Given the description of an element on the screen output the (x, y) to click on. 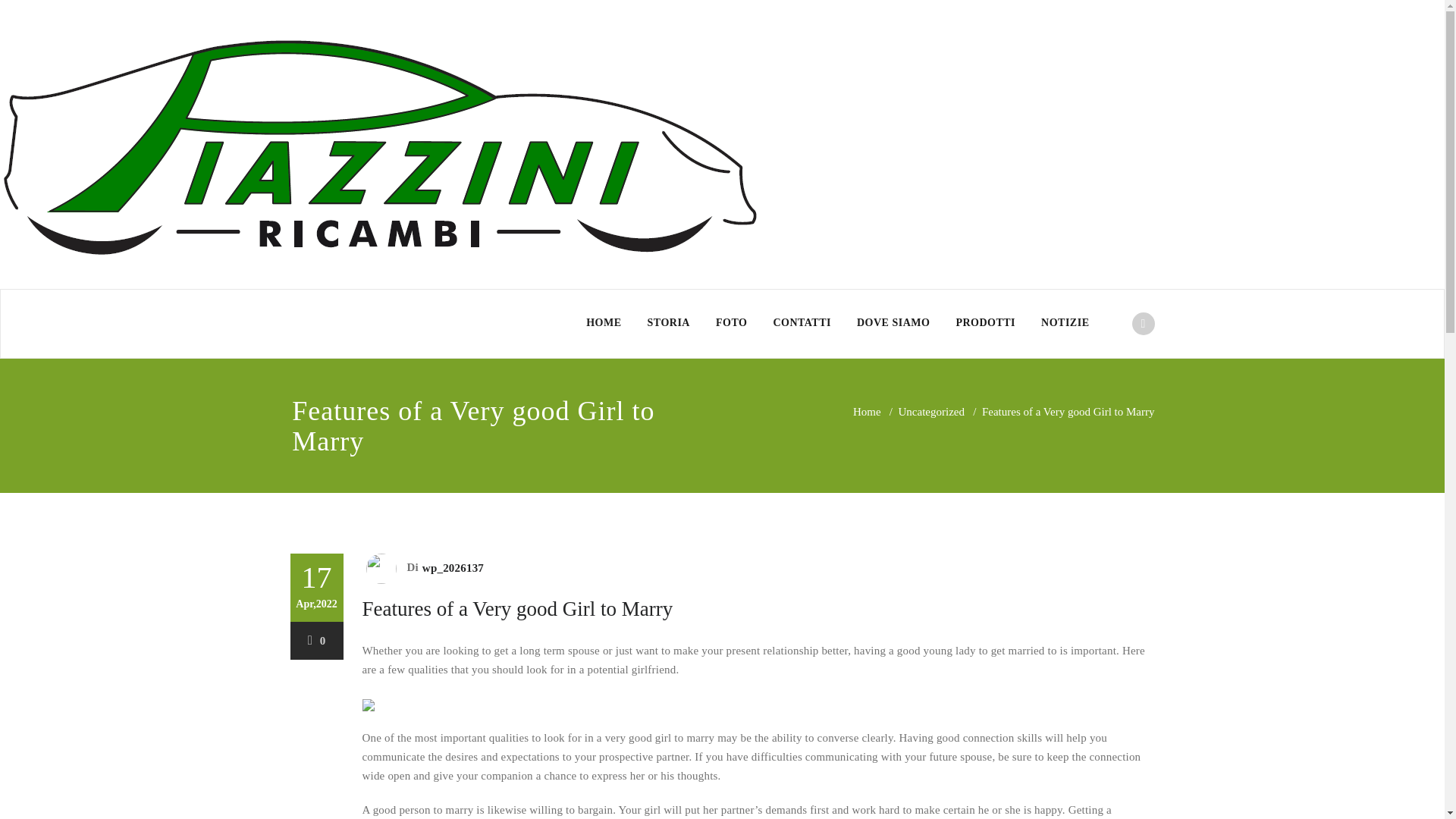
PRODOTTI (984, 322)
HOME (603, 322)
STORIA (668, 322)
DOVE SIAMO (893, 322)
Uncategorized (930, 411)
CONTATTI (802, 322)
FOTO (731, 322)
Features of a Very good Girl to Marry (517, 608)
Home (866, 411)
NOTIZIE (1064, 322)
